Given the description of an element on the screen output the (x, y) to click on. 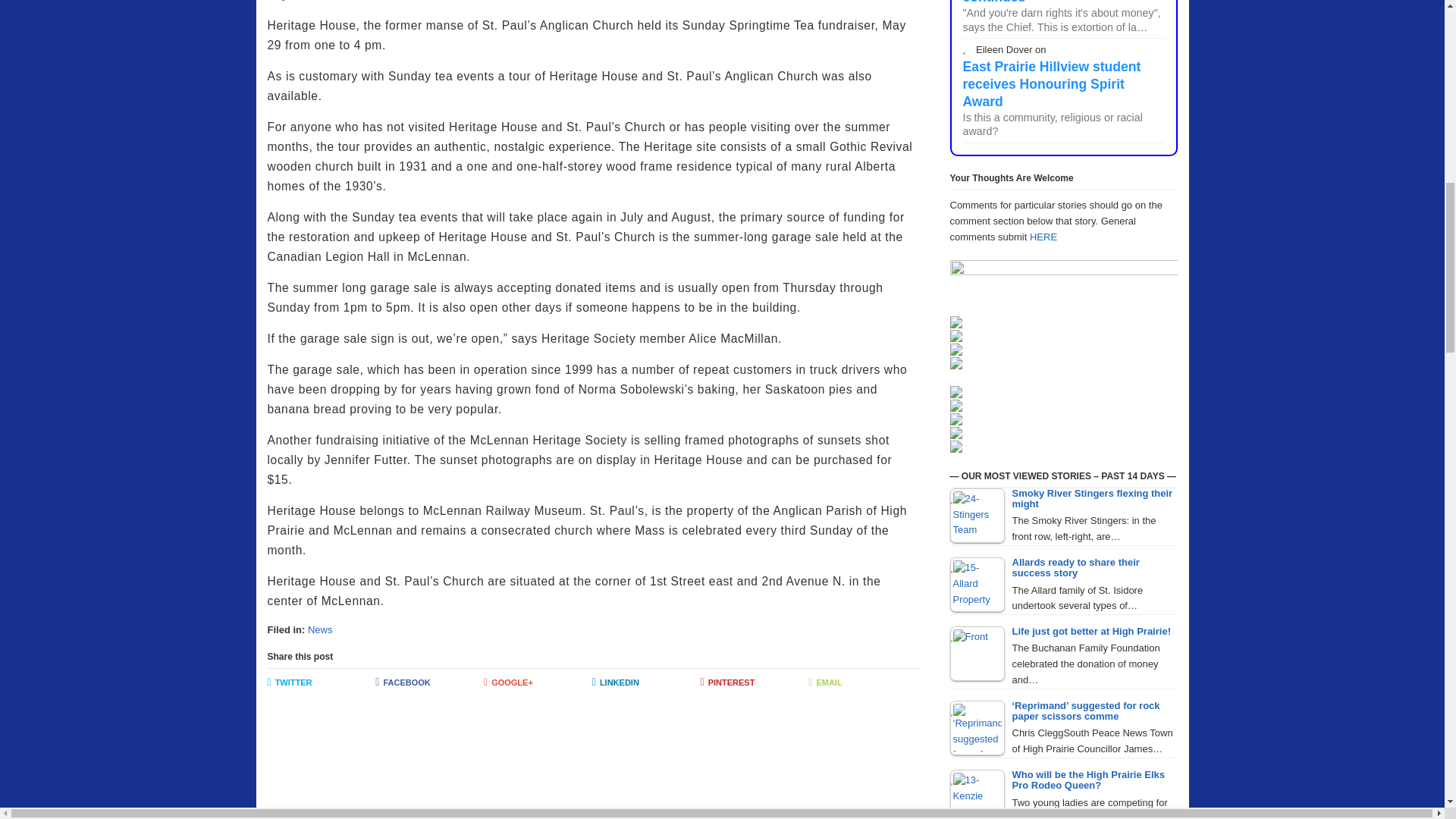
Smoky River Stingers flexing their might (976, 515)
FACEBOOK (429, 683)
Who will be the High Prairie Elks Pro Rodeo Queen? (976, 794)
Life just got better at High Prairie! (976, 653)
PINTEREST (754, 683)
EMAIL (862, 683)
LINKEDIN (646, 683)
Allards ready to share their success story (976, 584)
News (320, 629)
TWITTER (320, 683)
